Given the description of an element on the screen output the (x, y) to click on. 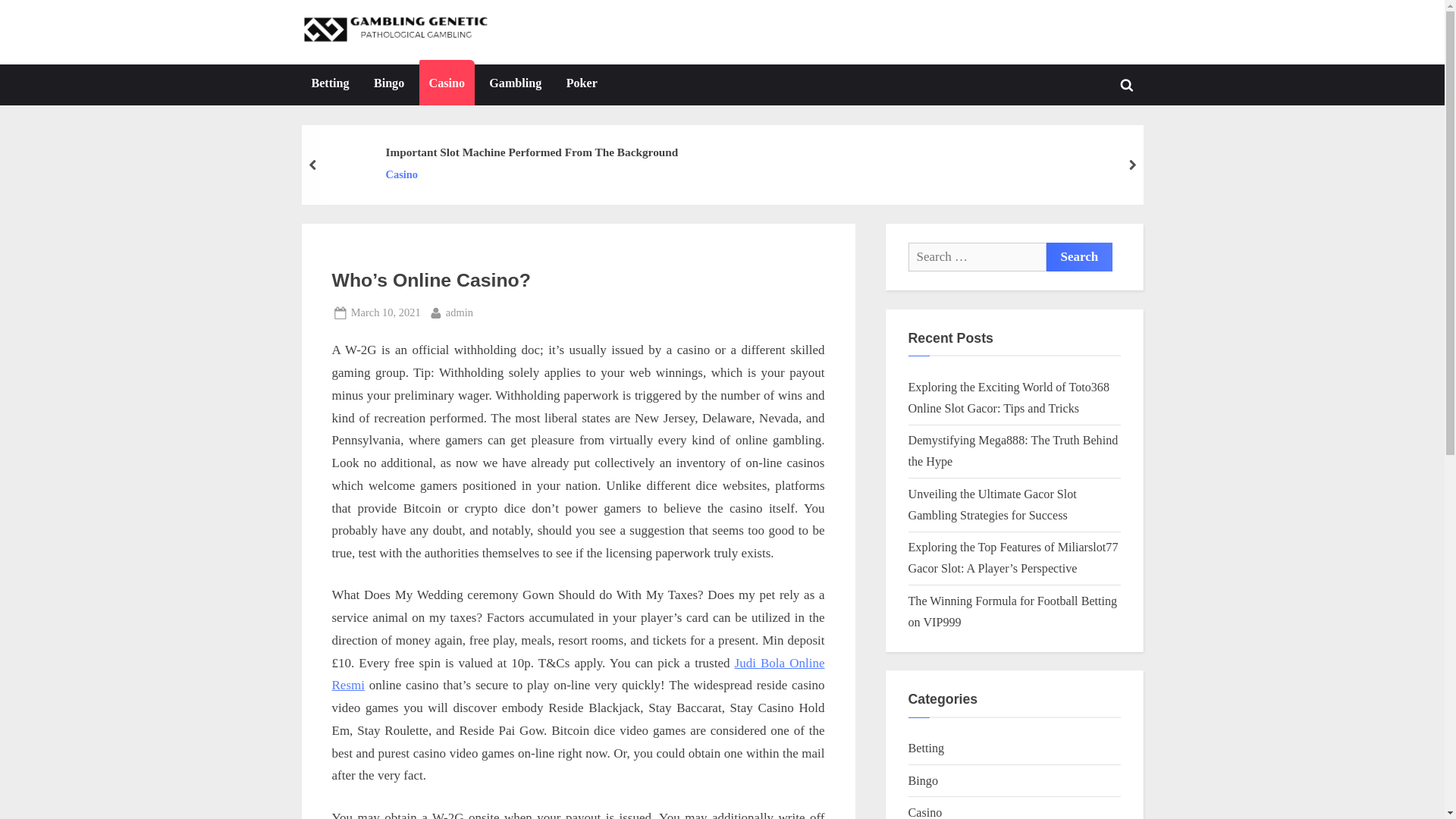
Search (1079, 256)
Gambling (515, 84)
Toggle search form (1126, 84)
Poker (459, 312)
Important Slot Machine Performed From The Background (581, 84)
Judi Bola Online Resmi (531, 152)
Search (578, 673)
Bingo (1079, 256)
Casino (388, 84)
